Given the description of an element on the screen output the (x, y) to click on. 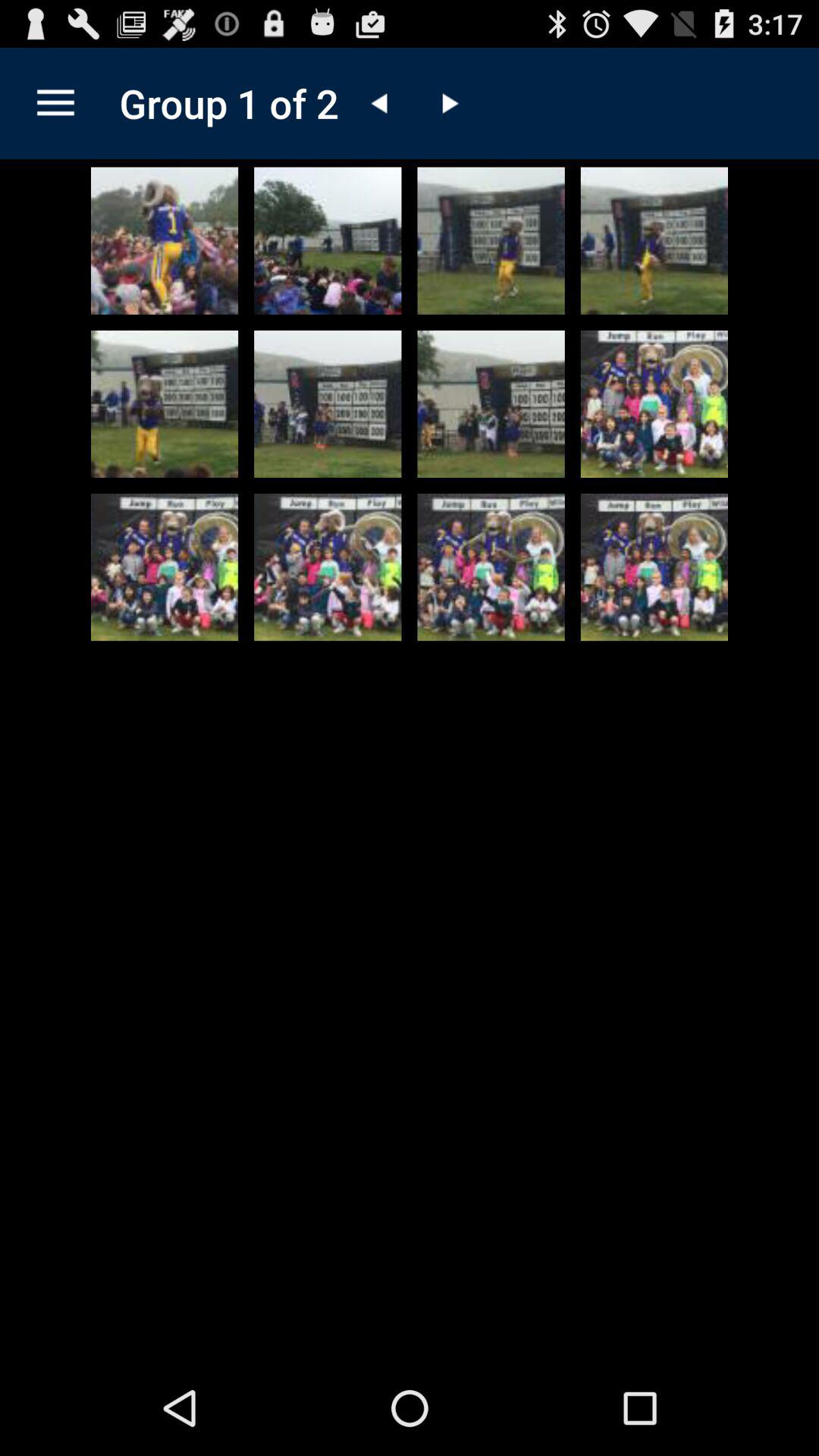
picture option (164, 566)
